Given the description of an element on the screen output the (x, y) to click on. 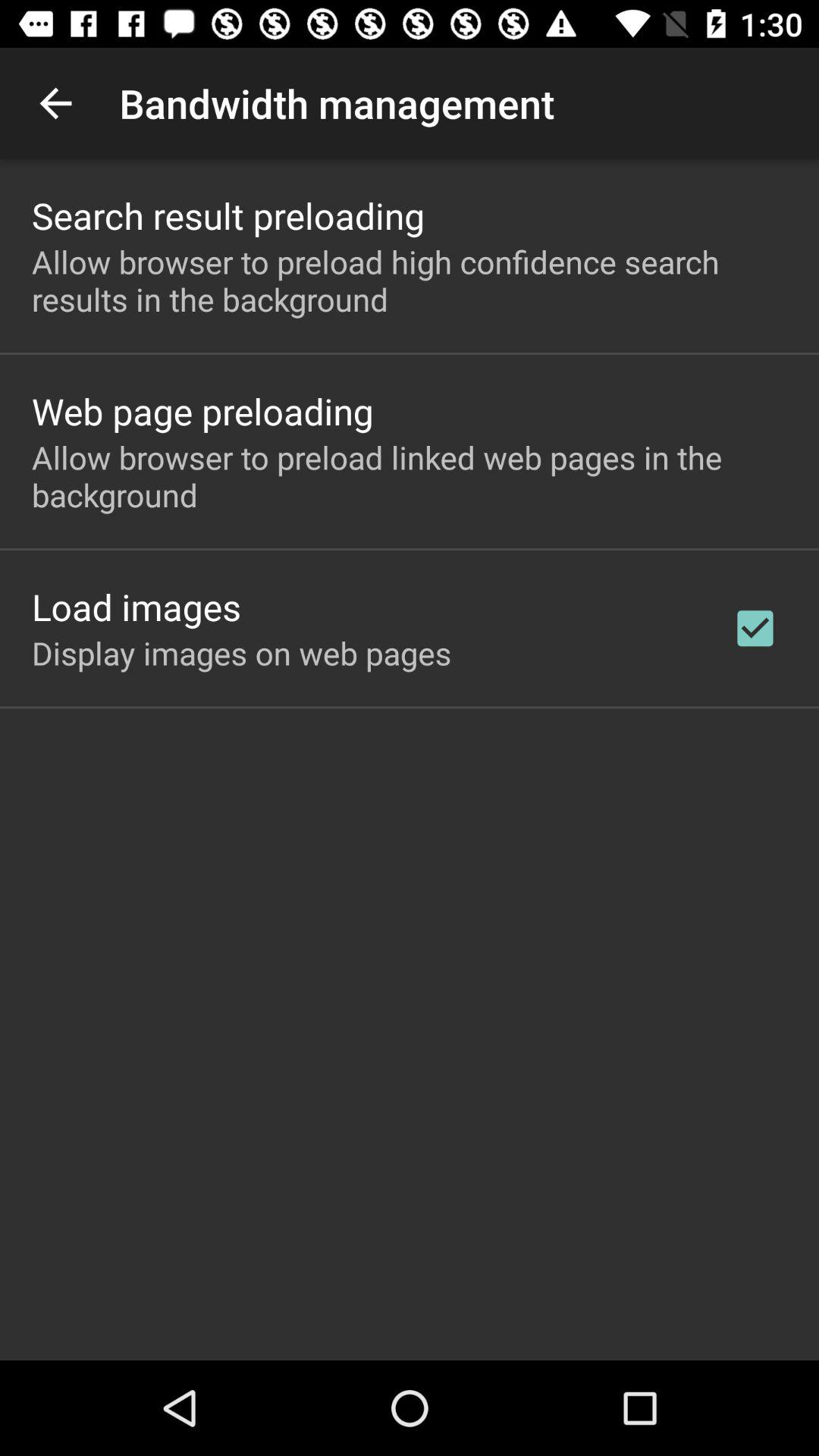
turn on the app to the right of display images on icon (755, 628)
